Given the description of an element on the screen output the (x, y) to click on. 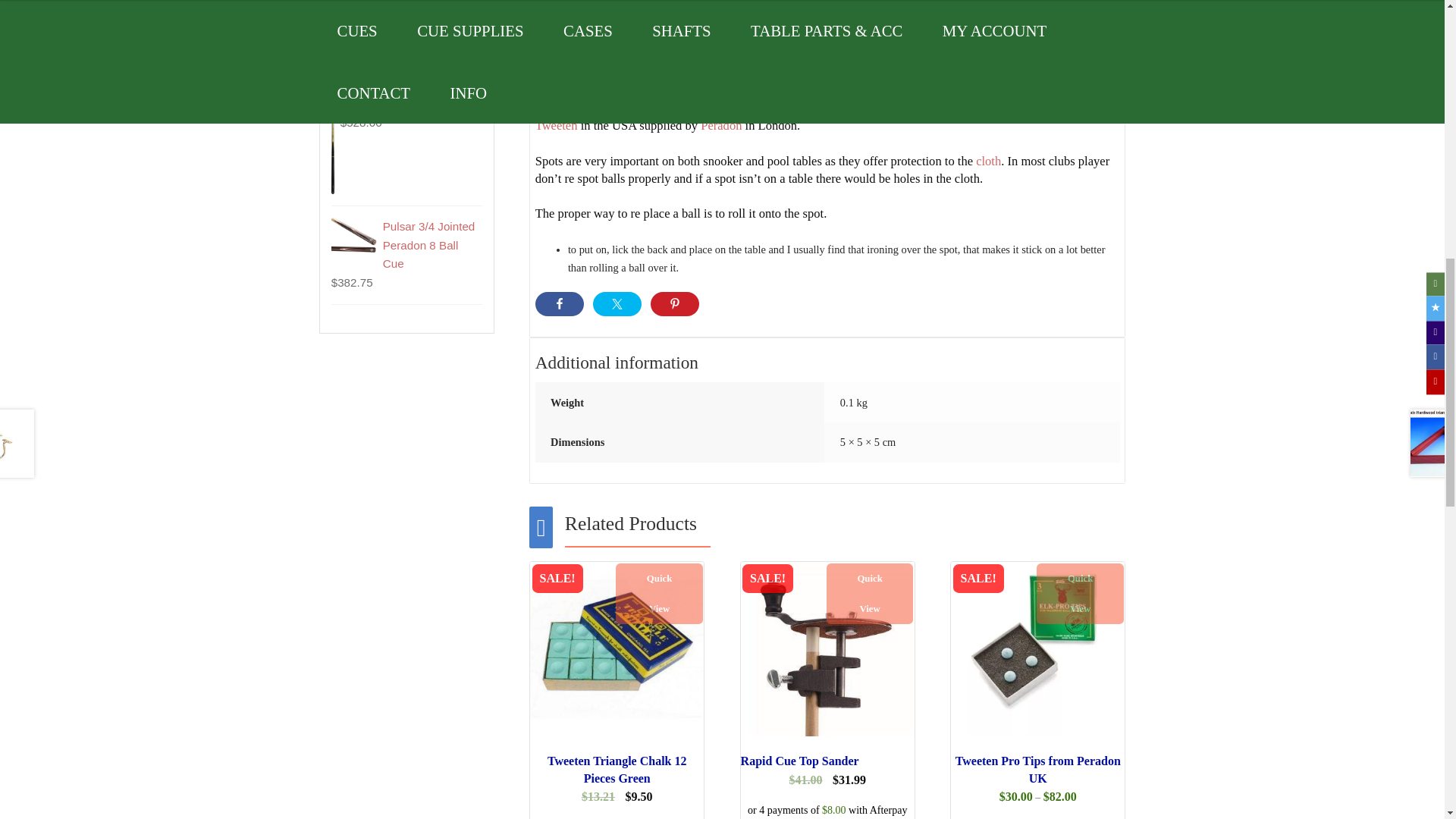
Share on Twitter (617, 303)
Share on Pinterest (674, 303)
Share on Facebook (559, 303)
